Given the description of an element on the screen output the (x, y) to click on. 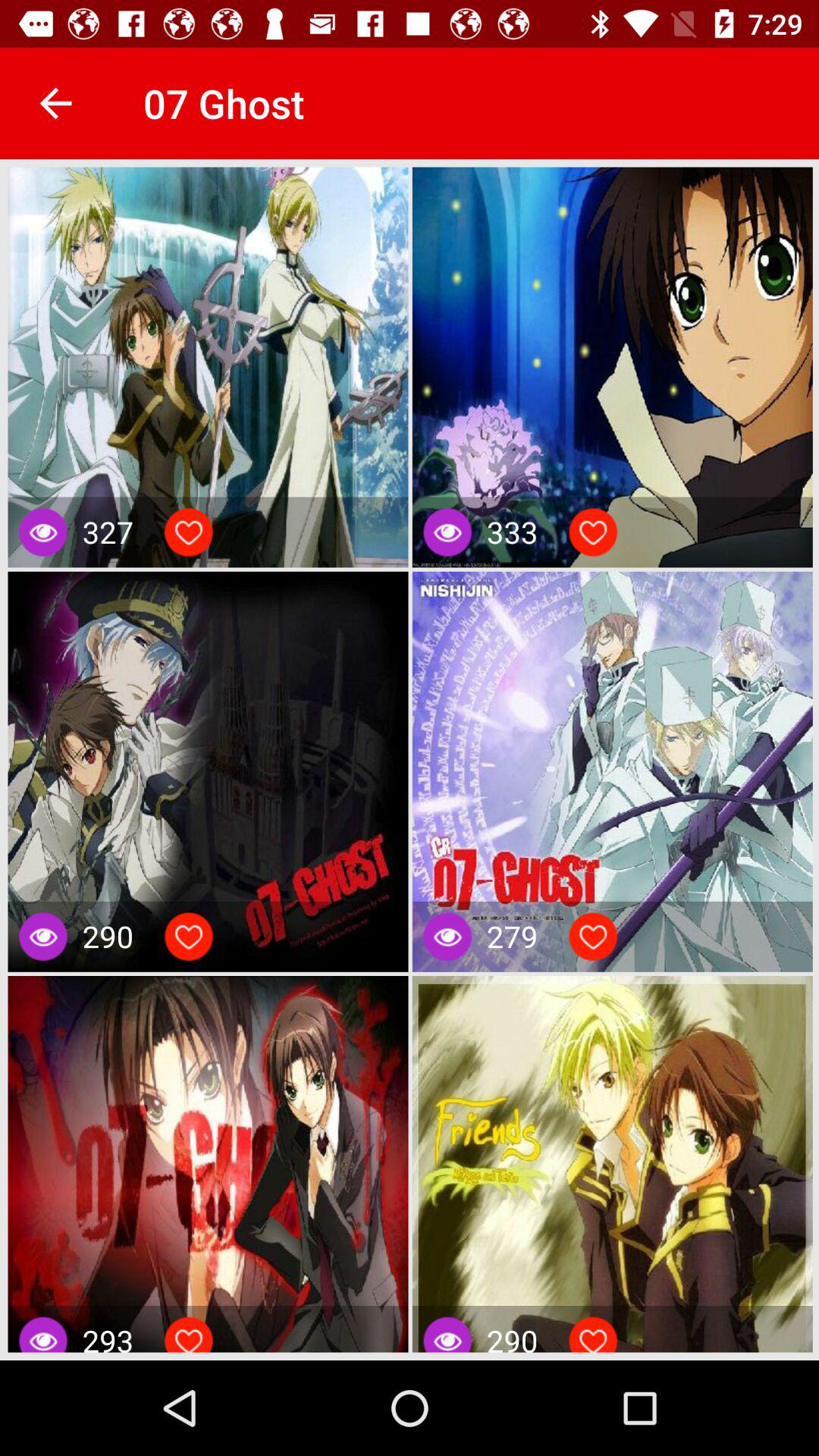
add episode to favorites (593, 936)
